Given the description of an element on the screen output the (x, y) to click on. 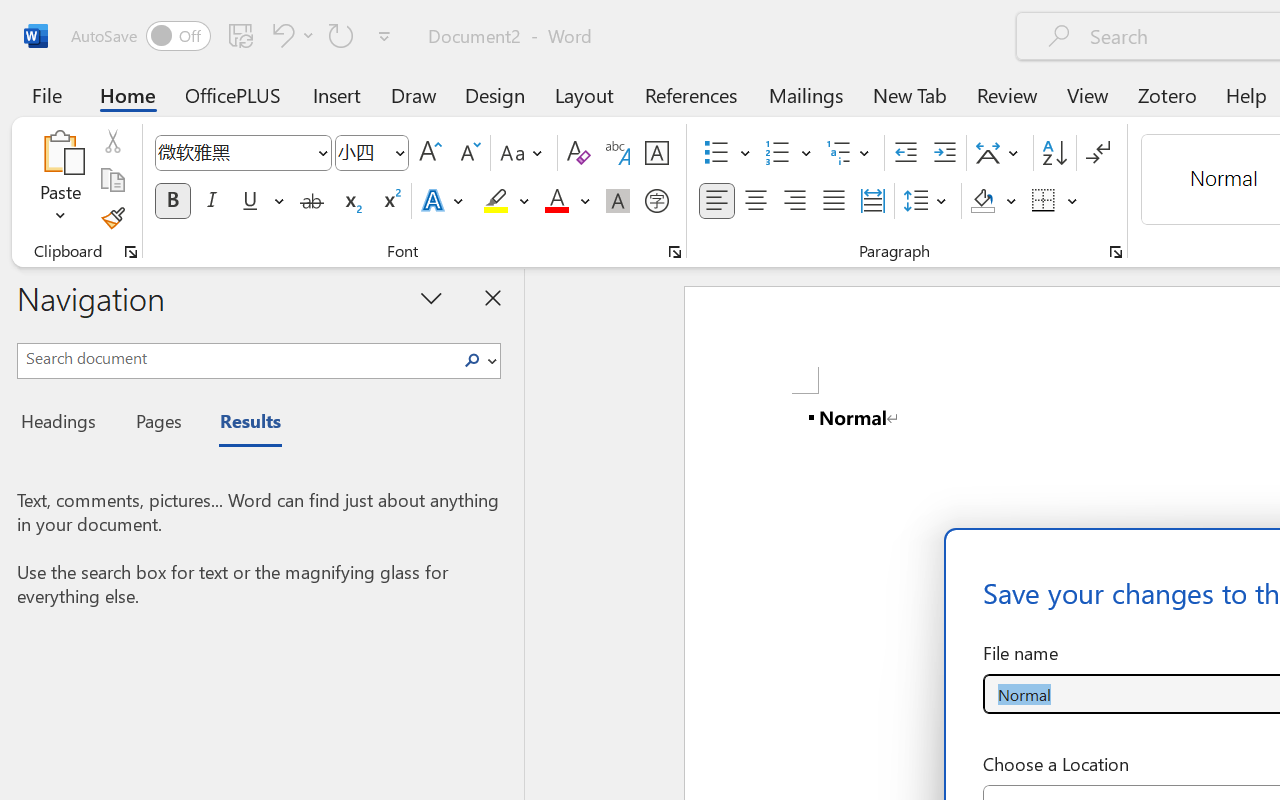
Search (471, 360)
Paste (60, 151)
Open (399, 152)
Shading RGB(0, 0, 0) (982, 201)
Draw (413, 94)
Justify (834, 201)
Bullets (716, 153)
Bold (172, 201)
Class: NetUIImage (471, 360)
